Given the description of an element on the screen output the (x, y) to click on. 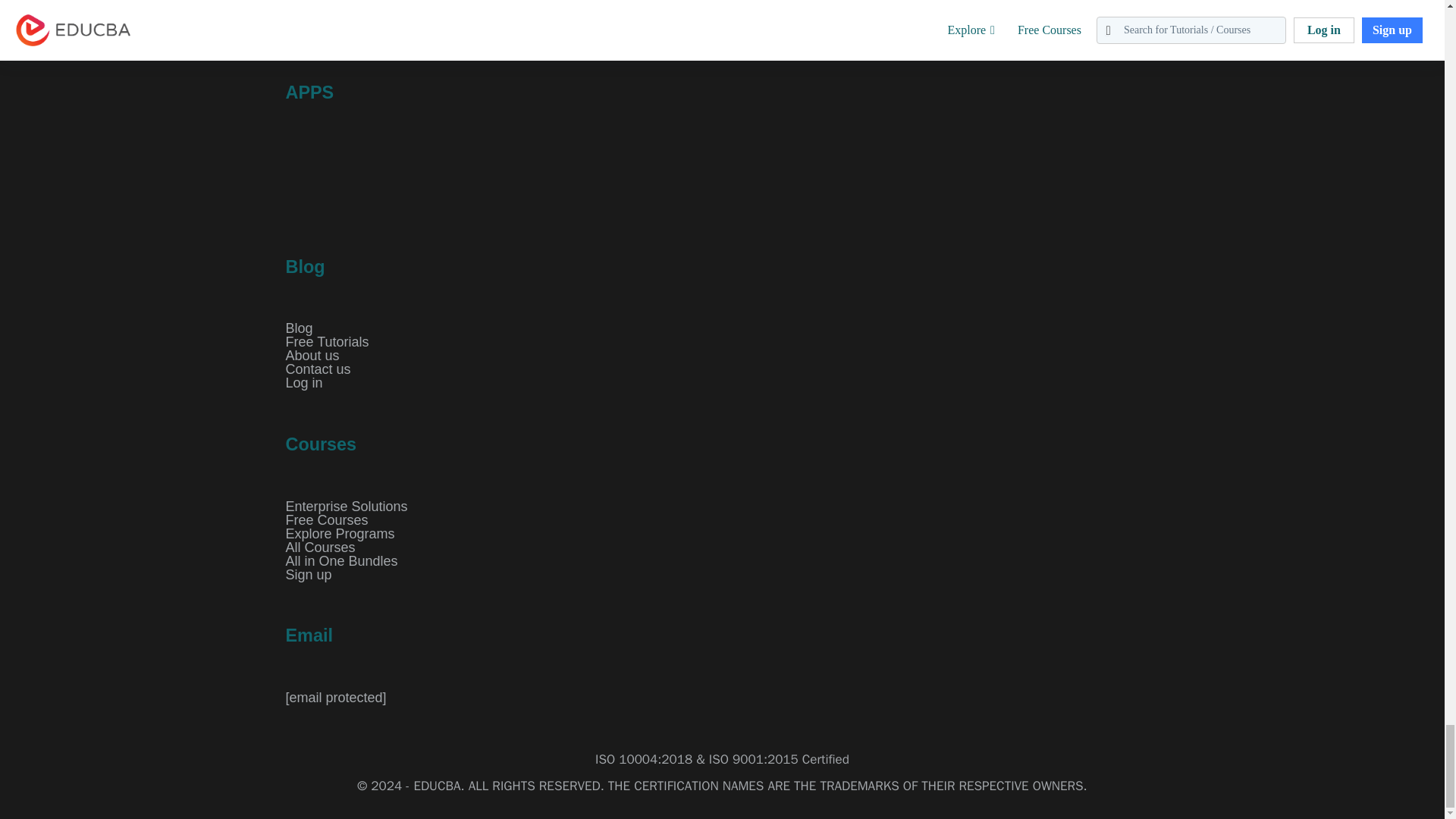
EDUCBA iOS App (512, 177)
EDUCBA Coursera (336, 17)
EDUCBA Udemy (371, 17)
EDUCBA Android App (360, 177)
EDUCBA Youtube (300, 17)
